Given the description of an element on the screen output the (x, y) to click on. 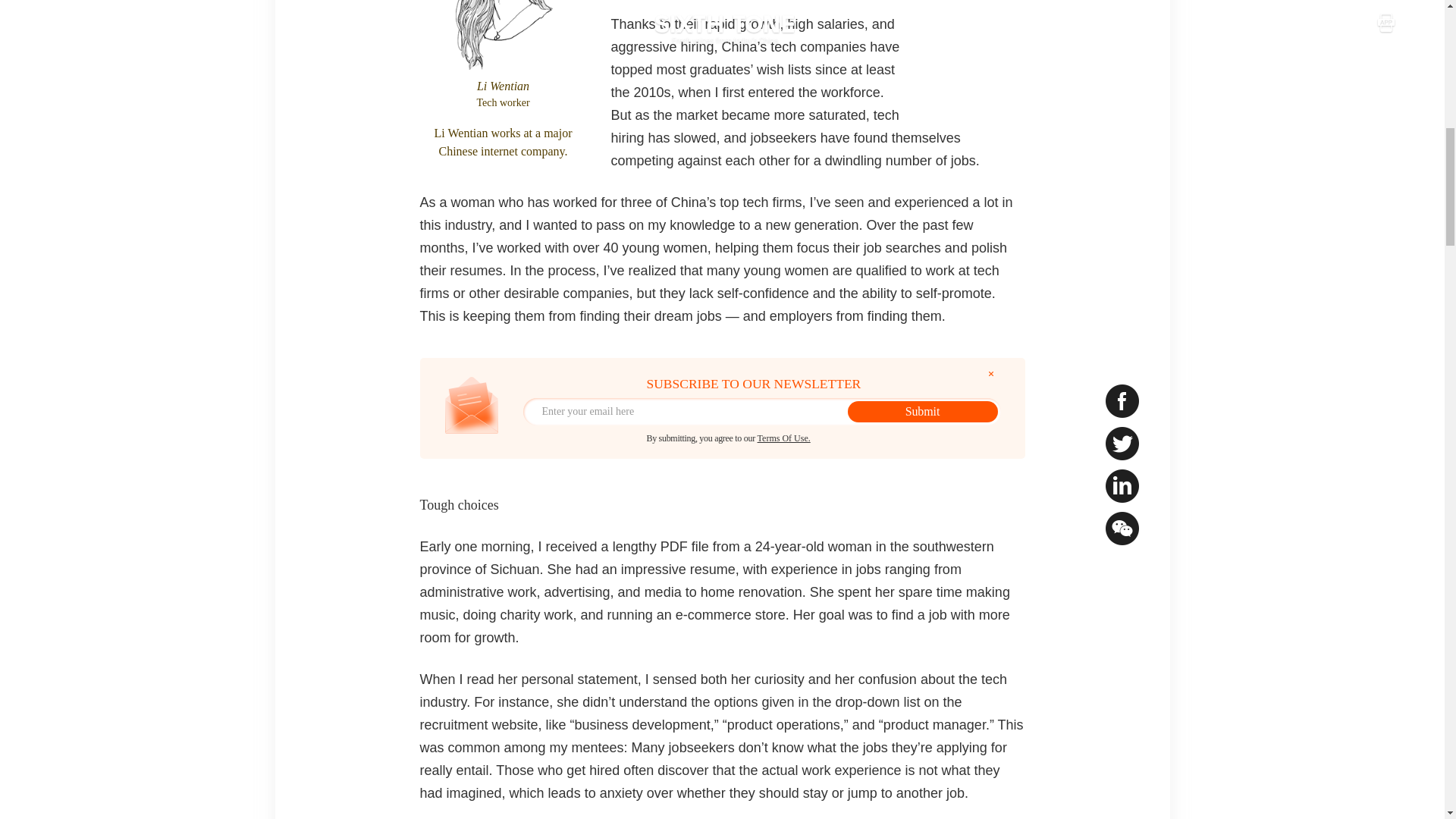
3rd party ad content (979, 42)
Li Wentian works at a major Chinese internet company. (503, 142)
Li Wentian (503, 85)
Tech worker (503, 102)
Terms Of Use. (783, 437)
